Given the description of an element on the screen output the (x, y) to click on. 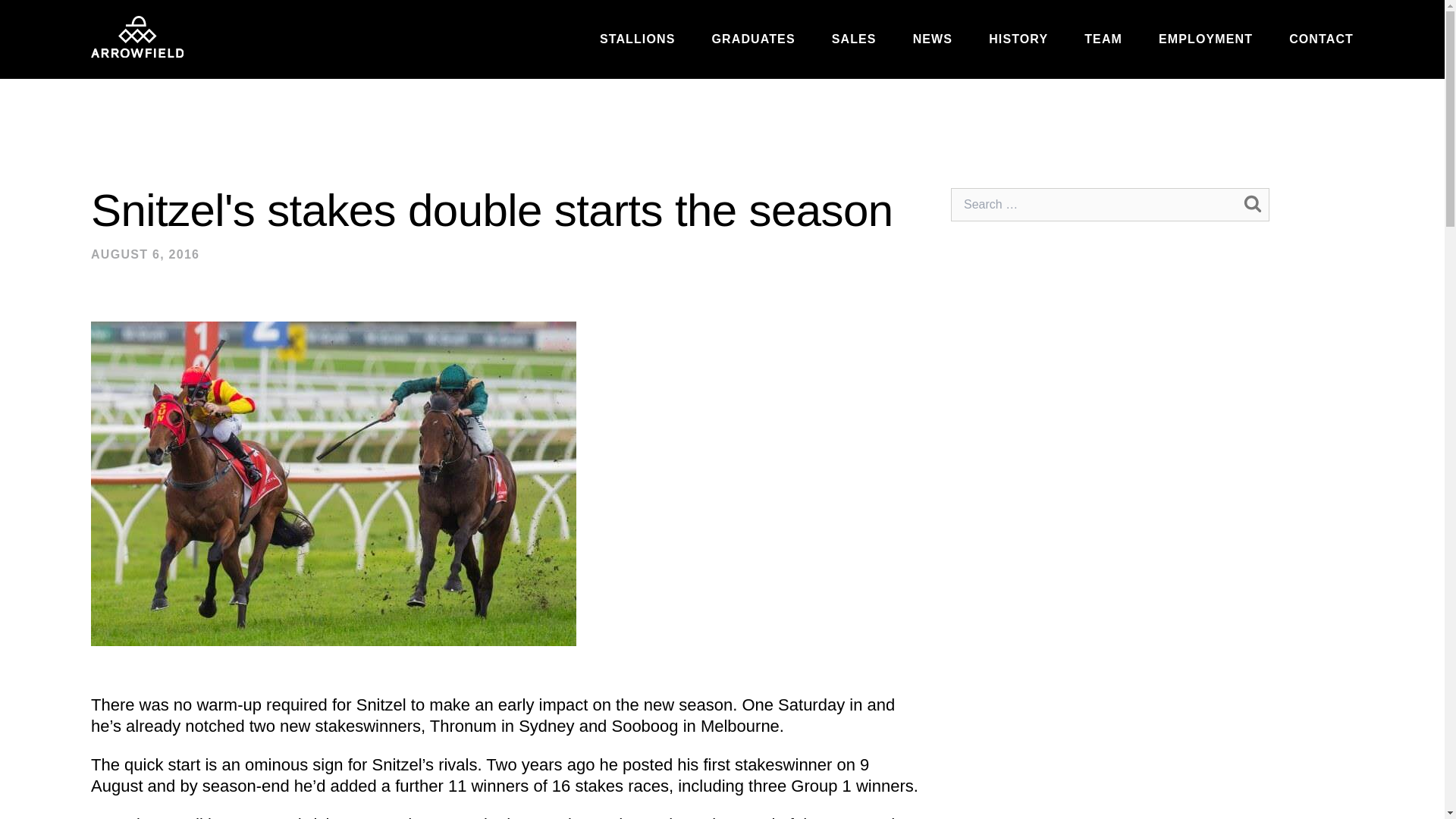
Return to the homepage (136, 36)
GRADUATES (752, 39)
TEAM (1103, 39)
EMPLOYMENT (1205, 39)
SALES (853, 39)
NEWS (932, 39)
HISTORY (1018, 39)
STALLIONS (637, 39)
CONTACT (1321, 39)
